Given the description of an element on the screen output the (x, y) to click on. 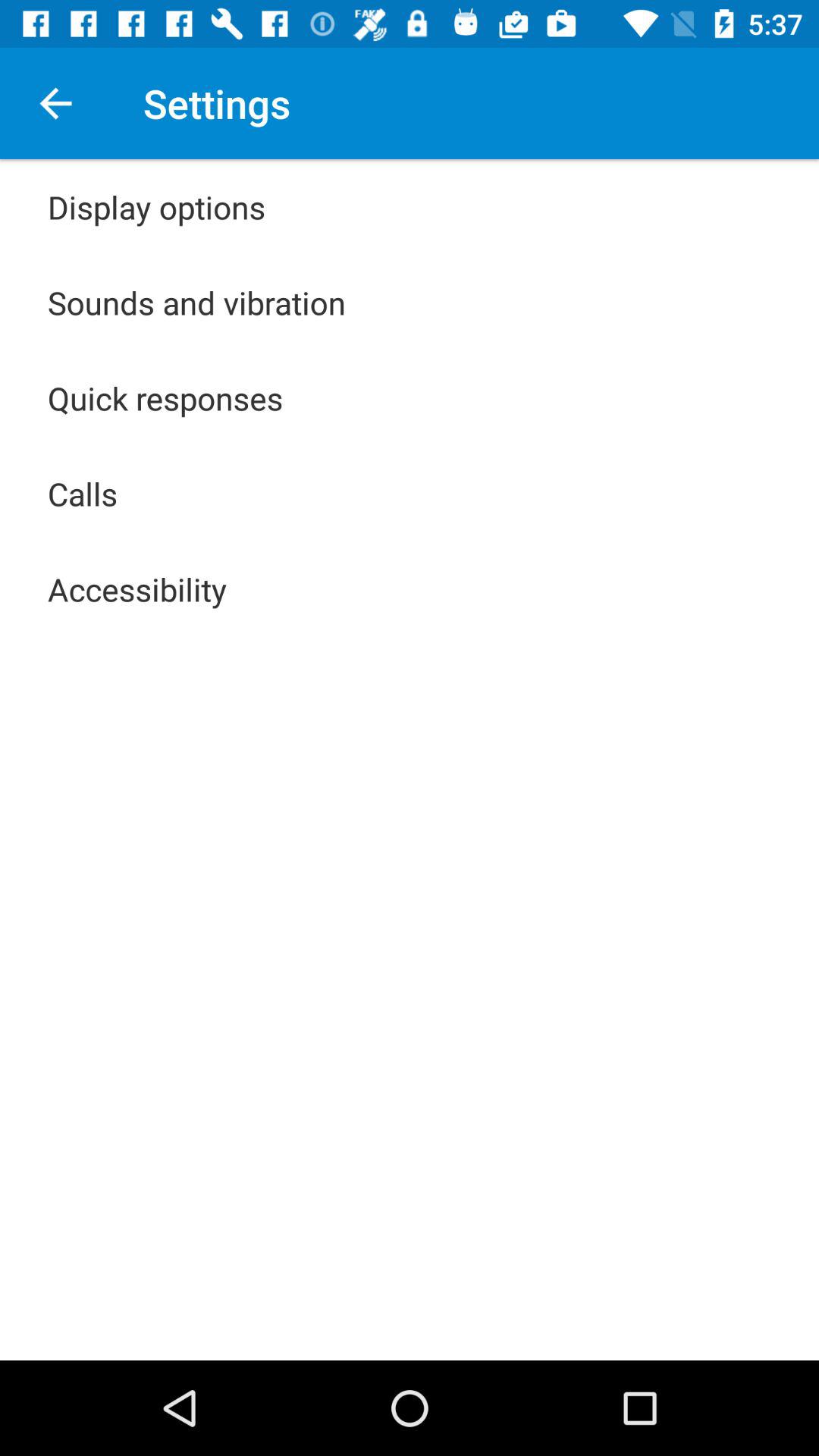
press calls item (82, 493)
